Given the description of an element on the screen output the (x, y) to click on. 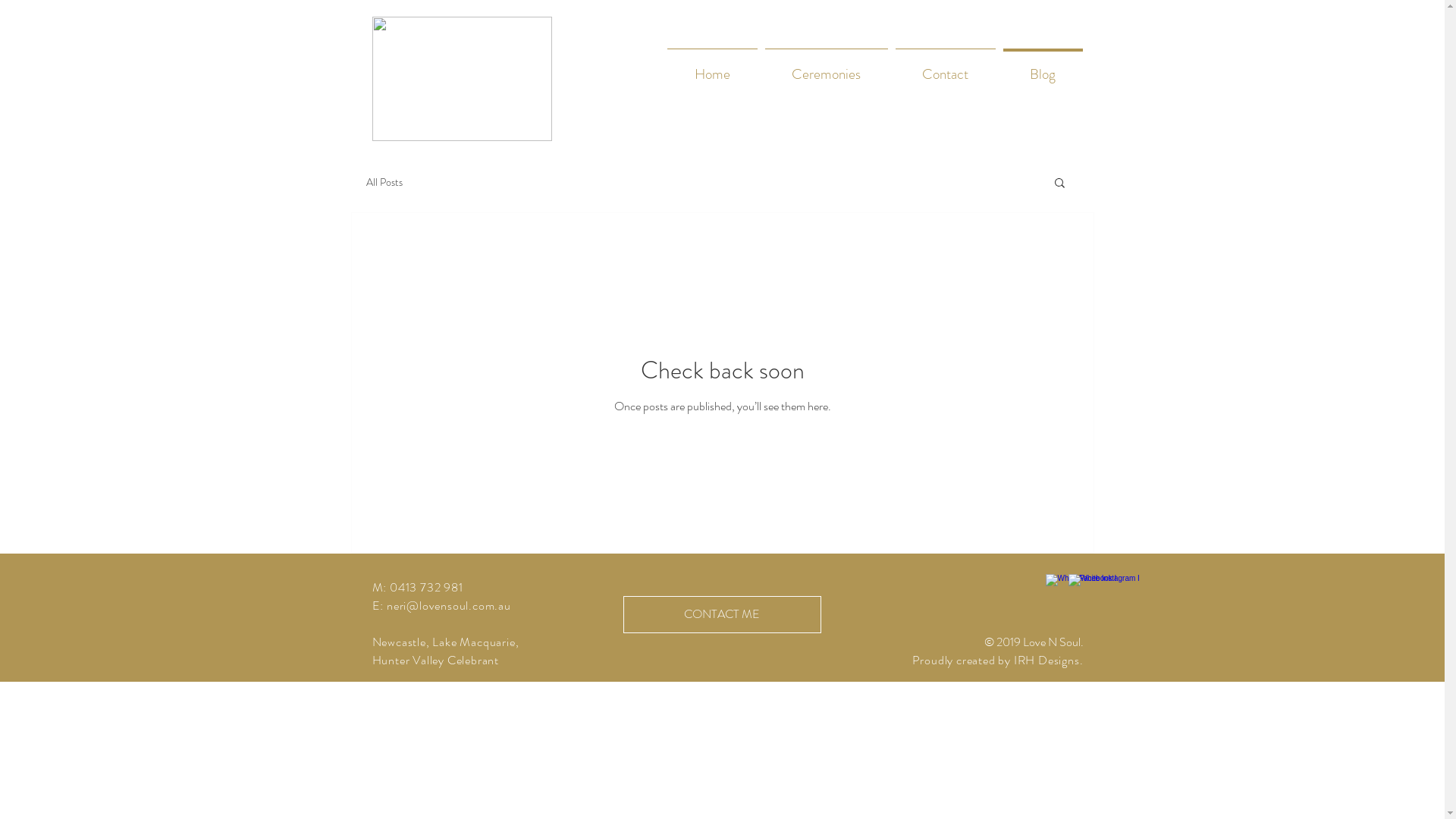
neri@lovensoul.com.au Element type: text (448, 605)
CONTACT ME Element type: text (722, 614)
All Posts Element type: text (383, 181)
Contact Element type: text (945, 67)
M: 0413 732 981 Element type: text (416, 587)
IRH Designs Element type: text (1046, 659)
Ceremonies Element type: text (826, 67)
Blog Element type: text (1042, 67)
Home Element type: text (711, 67)
